Given the description of an element on the screen output the (x, y) to click on. 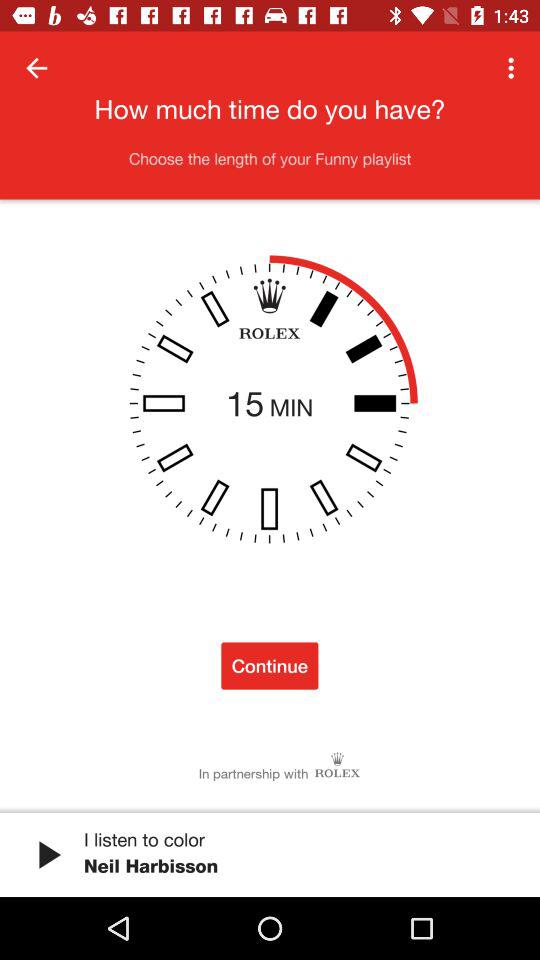
open the item at the top right corner (513, 67)
